Given the description of an element on the screen output the (x, y) to click on. 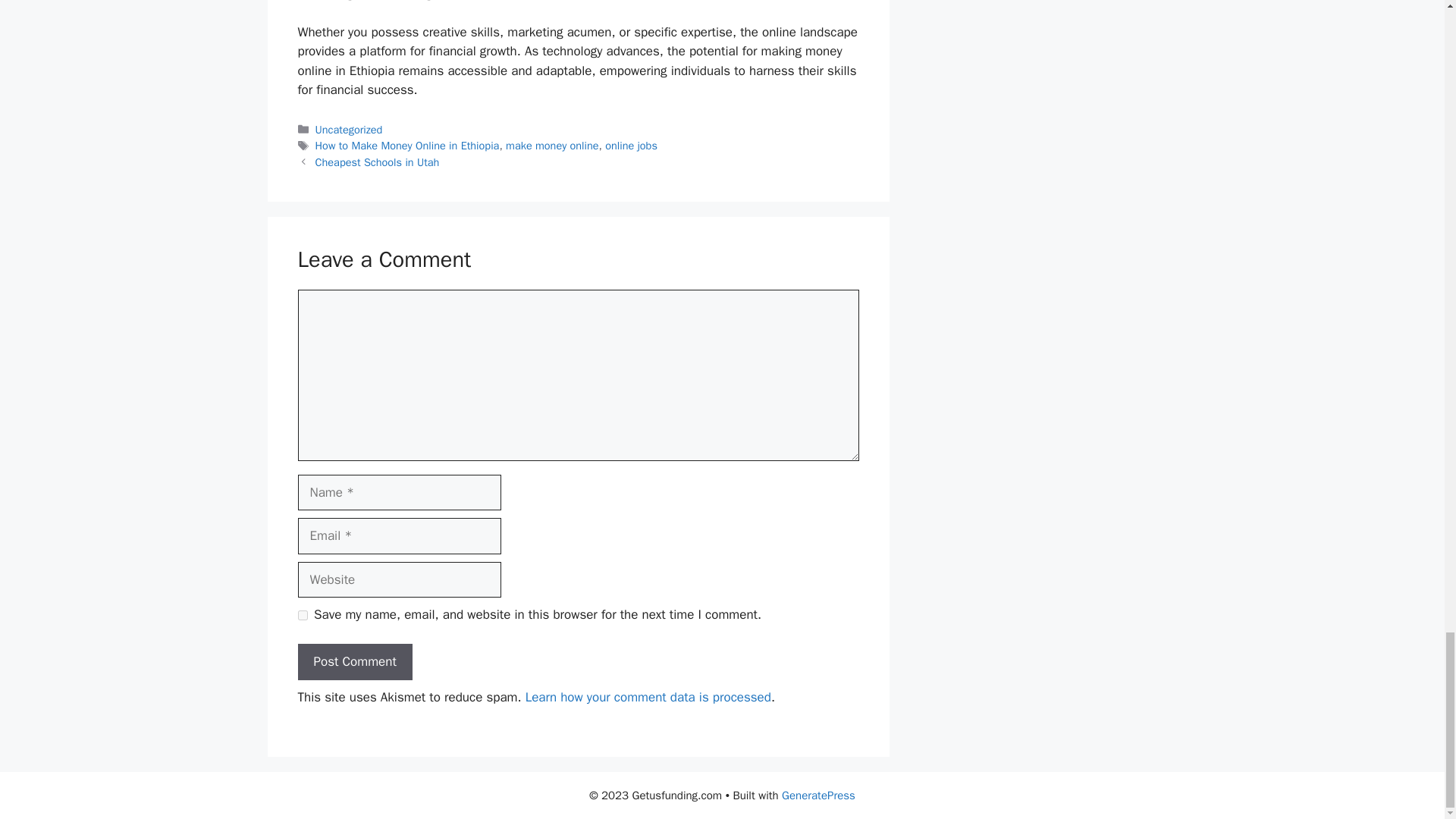
online jobs (631, 145)
Learn how your comment data is processed (648, 697)
Cheapest Schools in Utah (377, 161)
Post Comment (354, 661)
GeneratePress (818, 795)
yes (302, 614)
Uncategorized (348, 129)
How to Make Money Online in Ethiopia (407, 145)
Post Comment (354, 661)
make money online (551, 145)
